Given the description of an element on the screen output the (x, y) to click on. 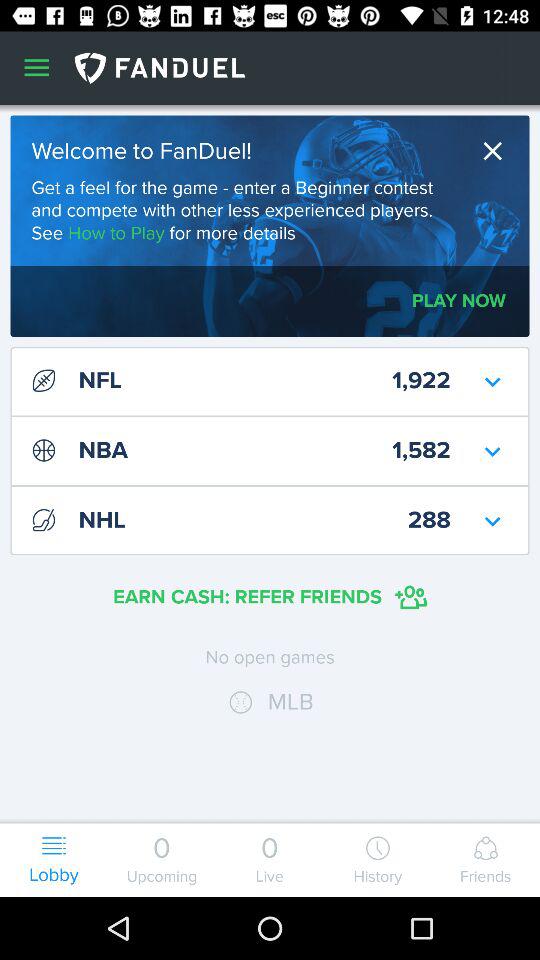
launch the item below get a feel icon (458, 300)
